Given the description of an element on the screen output the (x, y) to click on. 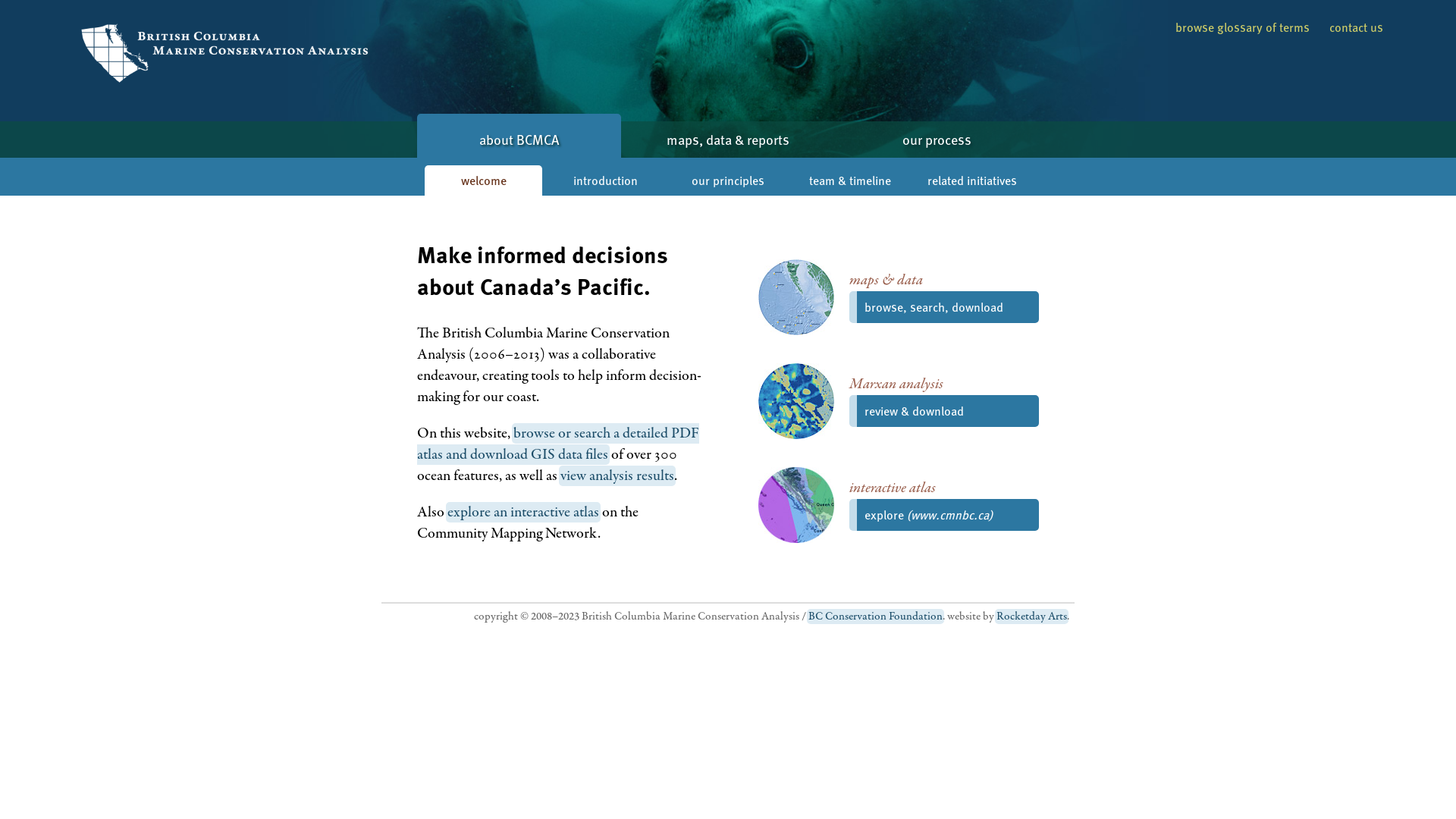
browse glossary of terms Element type: text (1242, 27)
Rocketday Arts Element type: text (1031, 616)
explore (www.cmnbc.ca) Element type: text (943, 514)
introduction Element type: text (605, 180)
explore an interactive atlas Element type: text (522, 512)
about BCMCA Element type: text (519, 135)
review & download Element type: text (943, 410)
maps, data & reports Element type: text (727, 139)
team & timeline Element type: text (850, 180)
BC Conservation Foundation Element type: text (875, 616)
our process Element type: text (936, 139)
view analysis results Element type: text (616, 475)
welcome Element type: text (483, 180)
contact us Element type: text (1356, 27)
browse, search, download Element type: text (943, 307)
related initiatives Element type: text (972, 180)
our principles Element type: text (727, 180)
